Given the description of an element on the screen output the (x, y) to click on. 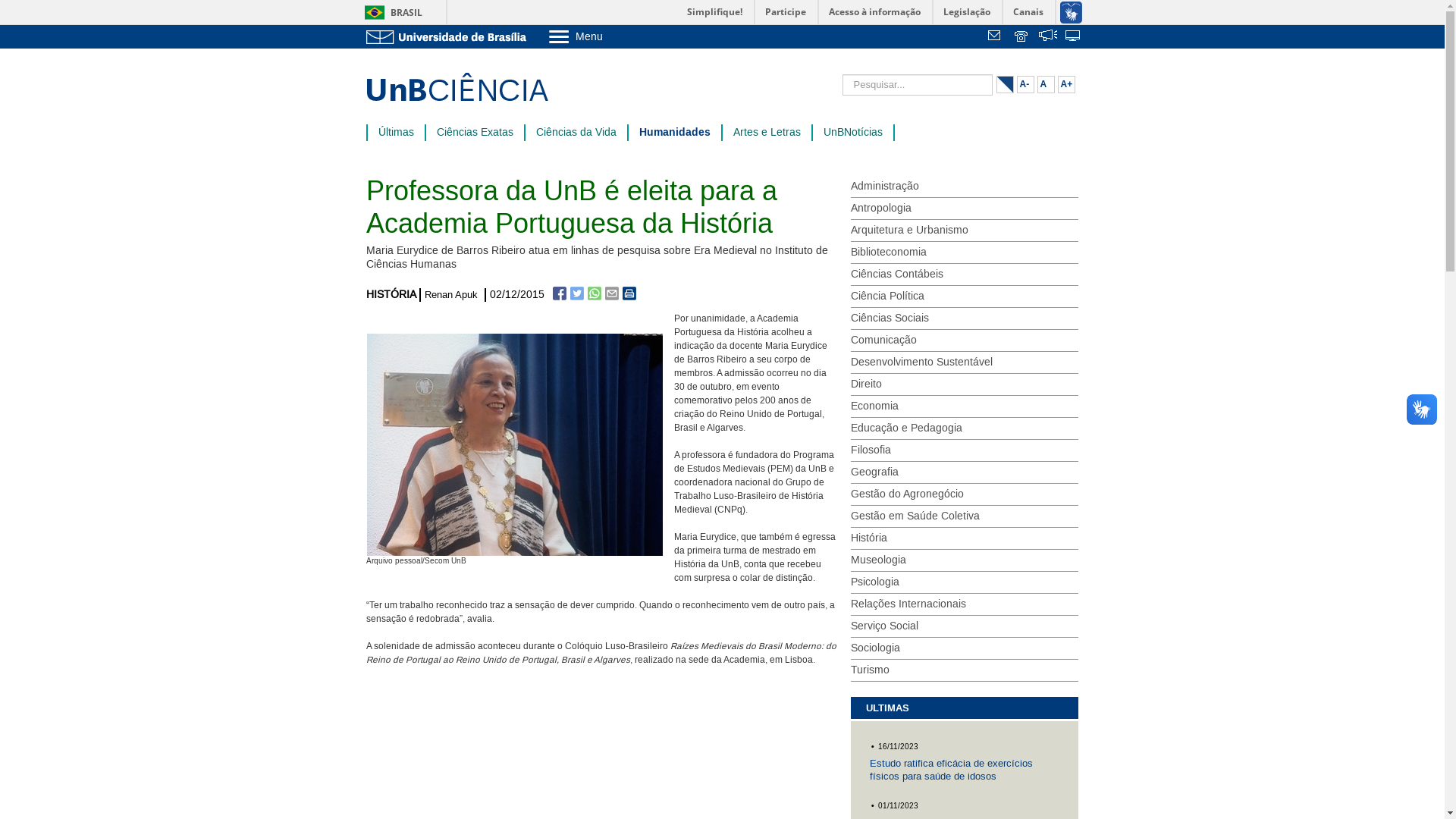
Economia Element type: text (964, 406)
A- Element type: text (1024, 84)
Geografia Element type: text (964, 472)
Museologia Element type: text (964, 560)
  Element type: text (1022, 37)
  Element type: text (996, 37)
Filosofia Element type: text (964, 450)
Antropologia Element type: text (964, 208)
Turismo Element type: text (964, 670)
  Element type: text (1047, 37)
Telefones da UnB Element type: hover (1022, 37)
Biblioteconomia Element type: text (964, 252)
Direito Element type: text (964, 384)
Psicologia Element type: text (964, 582)
A+ Element type: text (1065, 84)
Arquitetura e Urbanismo Element type: text (964, 230)
A Element type: text (1045, 84)
Sociologia Element type: text (964, 648)
  Element type: text (1073, 37)
Webmail Element type: hover (996, 37)
Fala.BR Element type: hover (1047, 37)
Humanidades Element type: text (673, 132)
Menu Element type: text (613, 35)
Artes e Letras Element type: text (765, 132)
Ir para o Portal da UnB Element type: hover (448, 36)
Sistemas Element type: hover (1073, 37)
BRASIL Element type: text (389, 12)
